Given the description of an element on the screen output the (x, y) to click on. 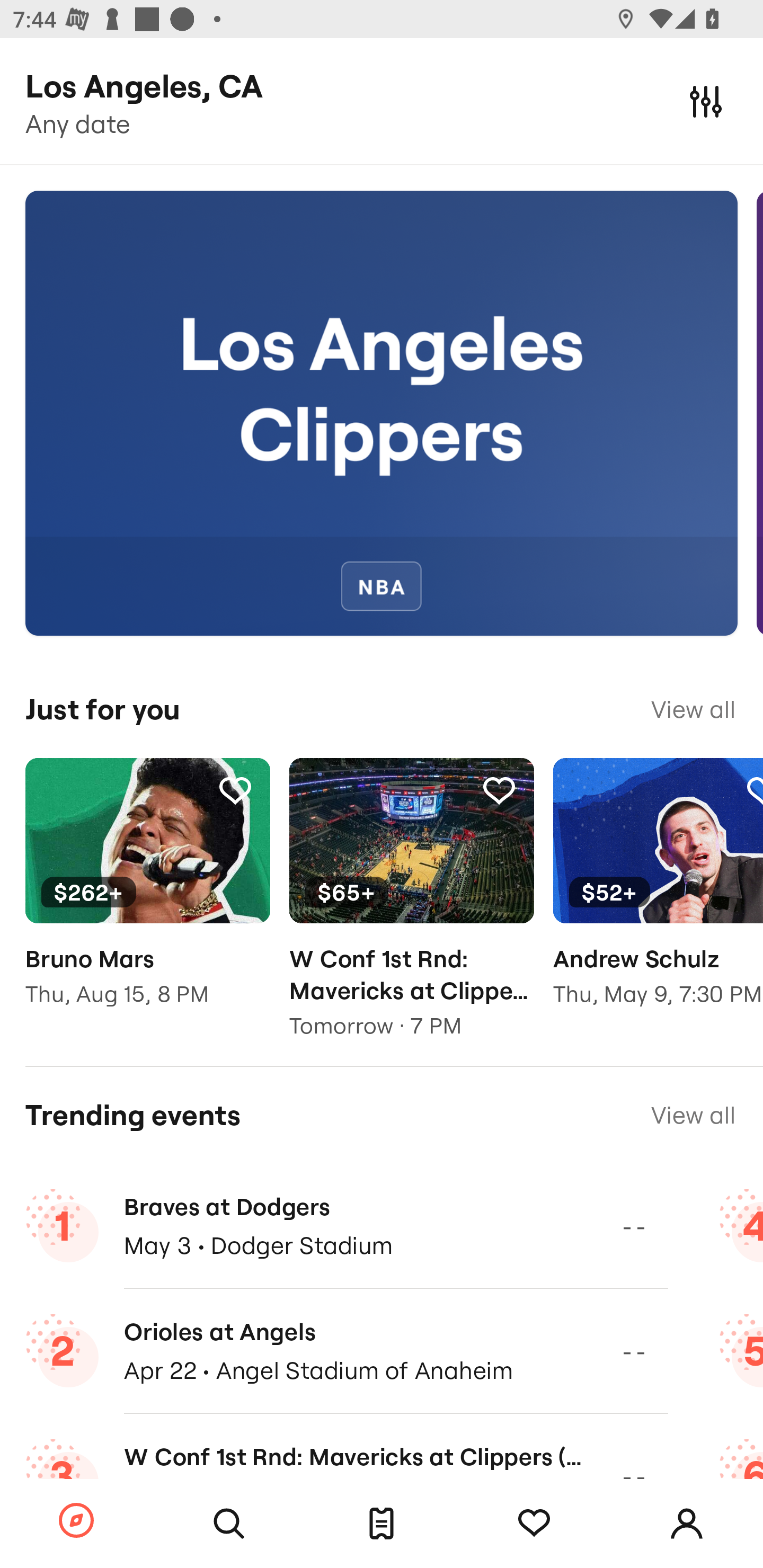
Filters (705, 100)
View all (693, 709)
Tracking $262+ Bruno Mars Thu, Aug 15, 8 PM (147, 895)
Tracking $52+ Andrew Schulz Thu, May 9, 7:30 PM (658, 895)
Tracking (234, 790)
Tracking (498, 790)
View all (693, 1114)
Browse (76, 1521)
Search (228, 1523)
Tickets (381, 1523)
Tracking (533, 1523)
Account (686, 1523)
